Given the description of an element on the screen output the (x, y) to click on. 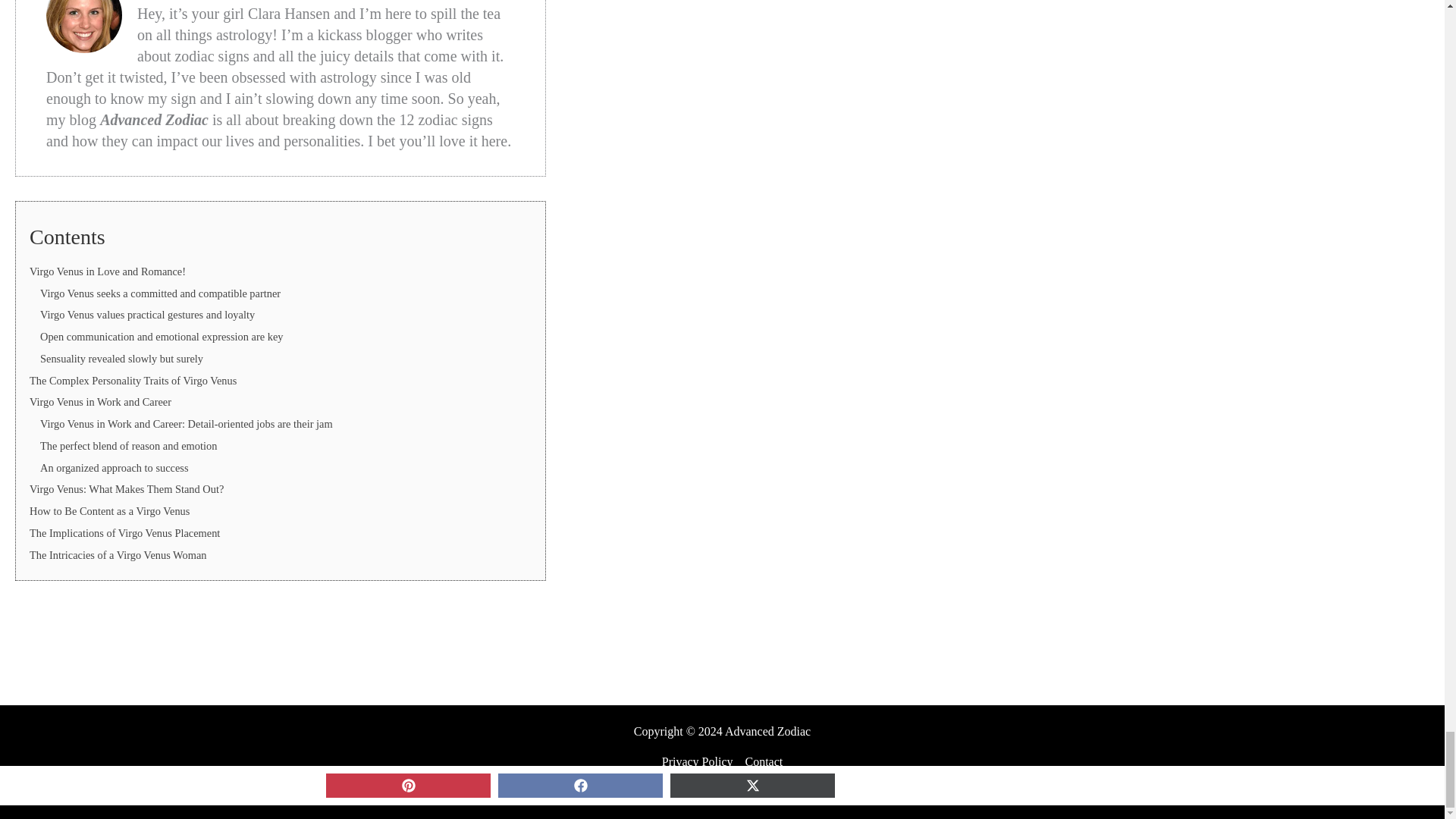
Virgo Venus in Love and Romance! (107, 271)
The perfect blend of reason and emotion (128, 445)
Sensuality revealed slowly but surely (121, 358)
Virgo Venus values practical gestures and loyalty (147, 314)
Virgo Venus seeks a committed and compatible partner (160, 292)
The Complex Personality Traits of Virgo Venus (132, 380)
Open communication and emotional expression are key (161, 336)
Virgo Venus in Work and Career (100, 401)
